Given the description of an element on the screen output the (x, y) to click on. 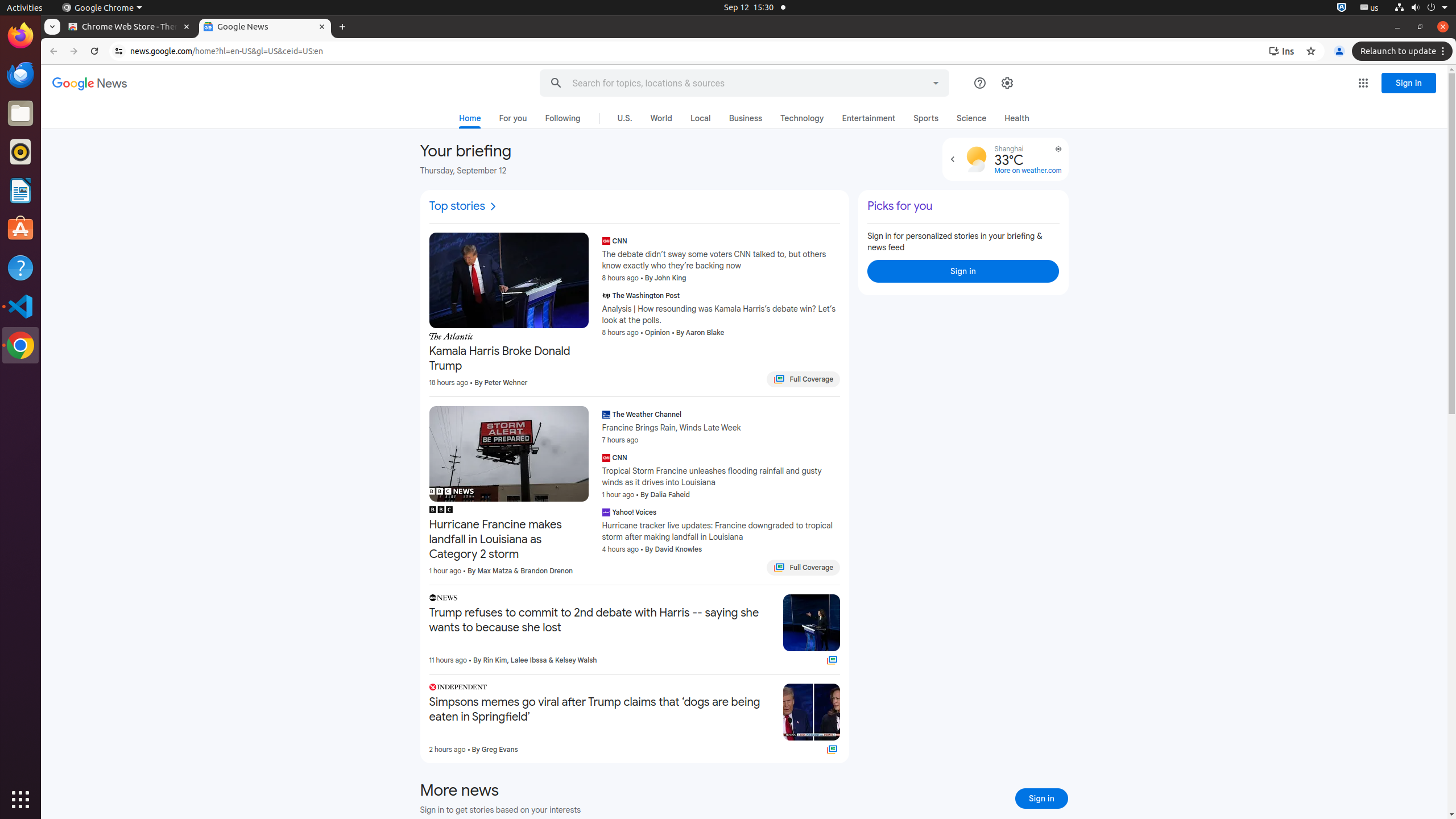
:1.21/StatusNotifierItem Element type: menu (1369, 7)
Business Element type: menu-item (745, 118)
Following Element type: menu-item (562, 118)
Local Element type: menu-item (699, 118)
Technology Element type: menu-item (802, 118)
